Given the description of an element on the screen output the (x, y) to click on. 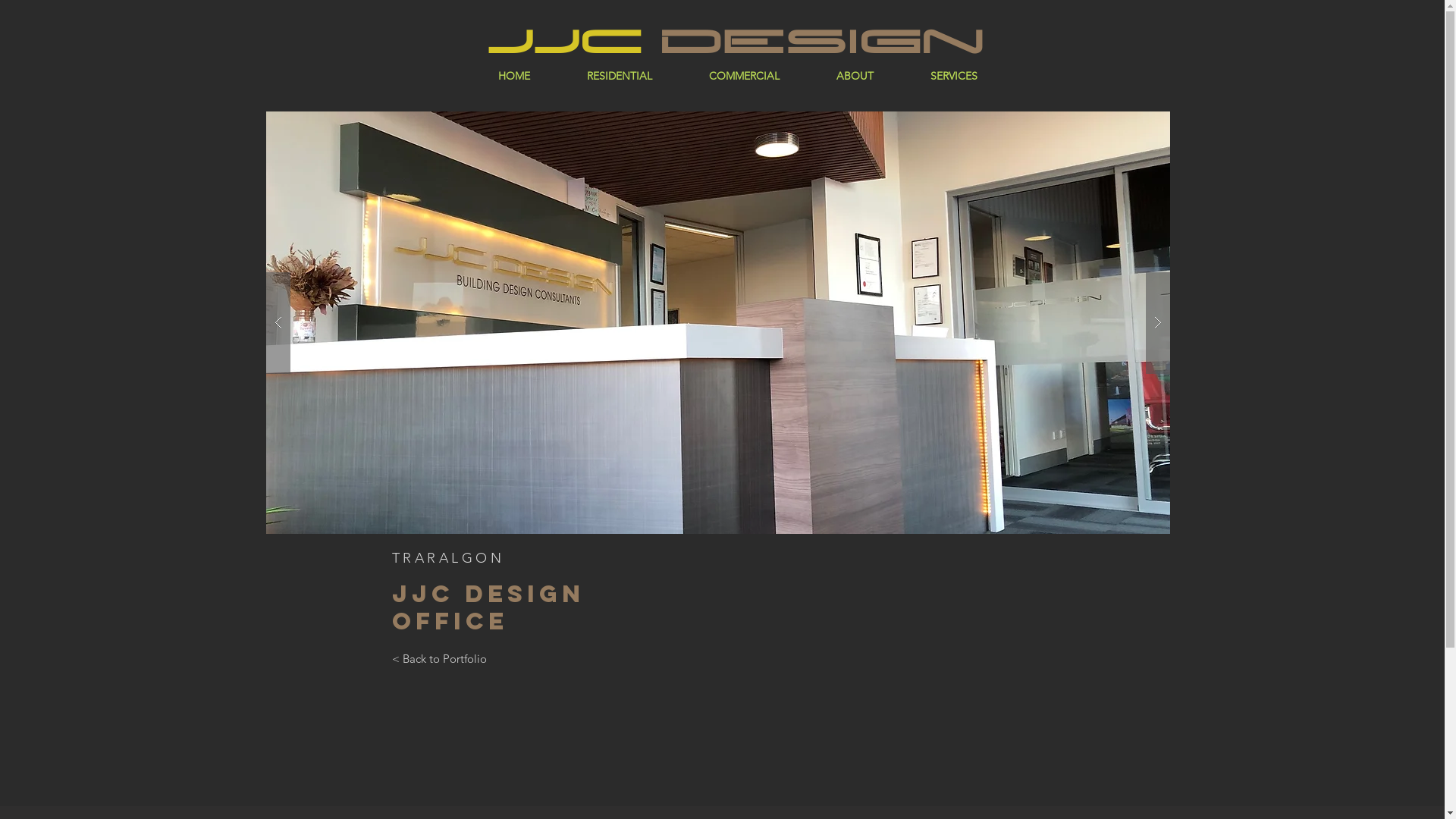
RESIDENTIAL Element type: text (619, 75)
< Back to Portfolio Element type: text (438, 658)
SERVICES Element type: text (954, 75)
HOME Element type: text (513, 75)
COMMERCIAL Element type: text (744, 75)
ABOUT Element type: text (855, 75)
JJC DESIGN Element type: text (735, 40)
